Given the description of an element on the screen output the (x, y) to click on. 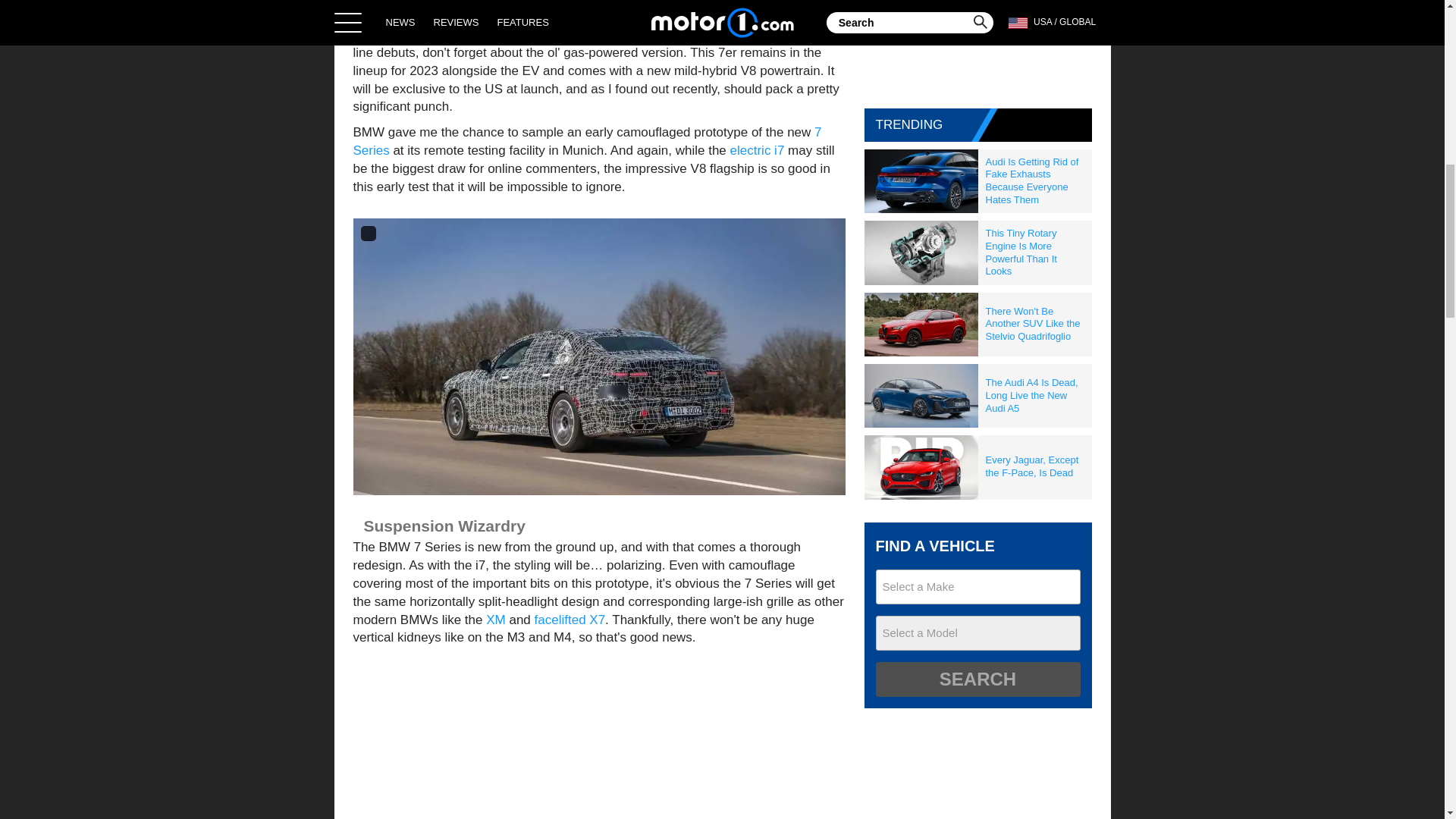
electric i7 (757, 150)
Search (977, 678)
XM (495, 619)
facelifted X7 (569, 619)
7 Series (587, 141)
